Given the description of an element on the screen output the (x, y) to click on. 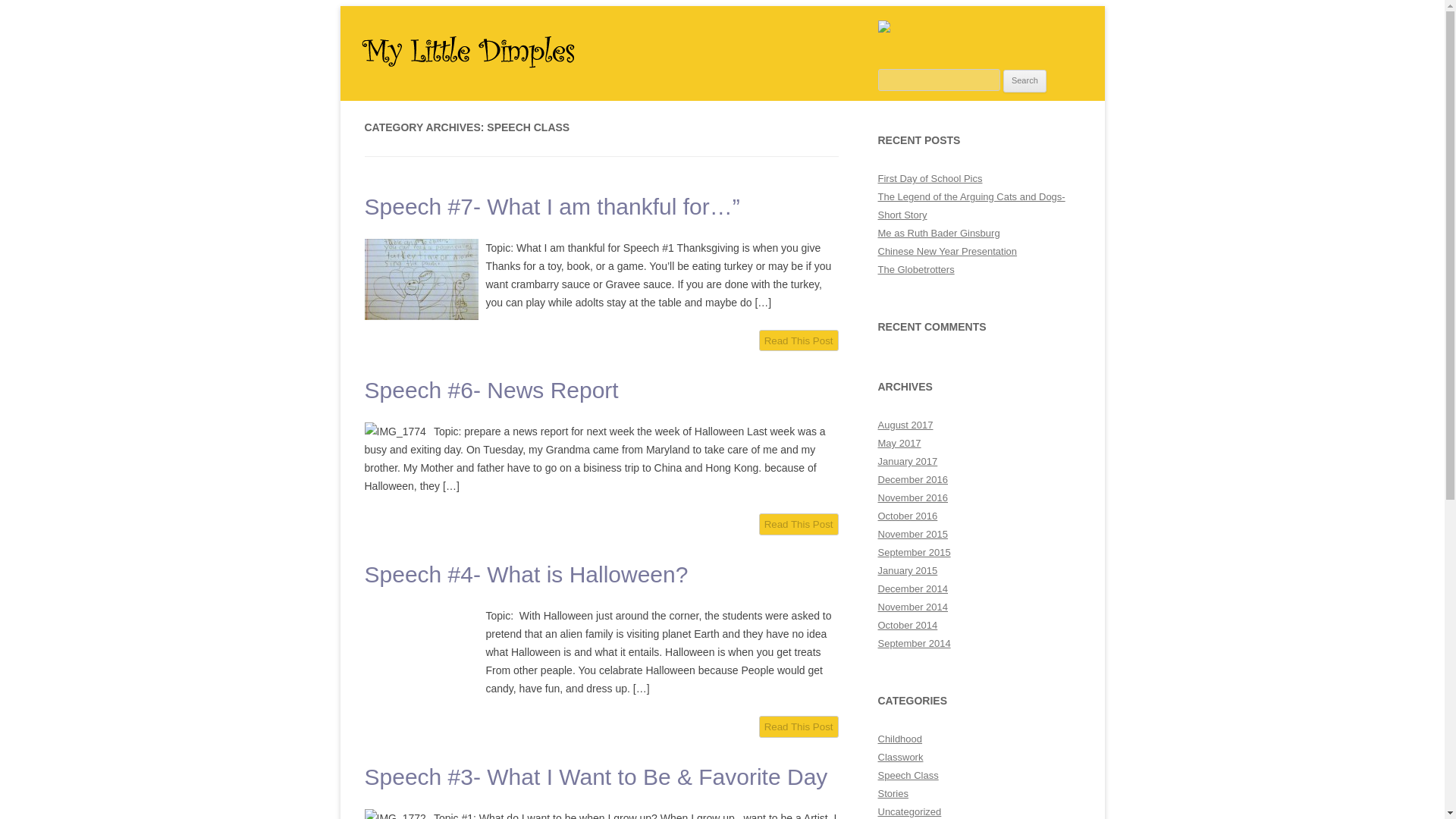
Childhood (900, 738)
Read This Post (798, 341)
First Day of School Pics (929, 178)
Stories (892, 793)
Read This Post (798, 726)
December 2014 (913, 588)
October 2016 (907, 515)
November 2016 (913, 497)
October 2014 (907, 624)
Classwork (900, 756)
